Given the description of an element on the screen output the (x, y) to click on. 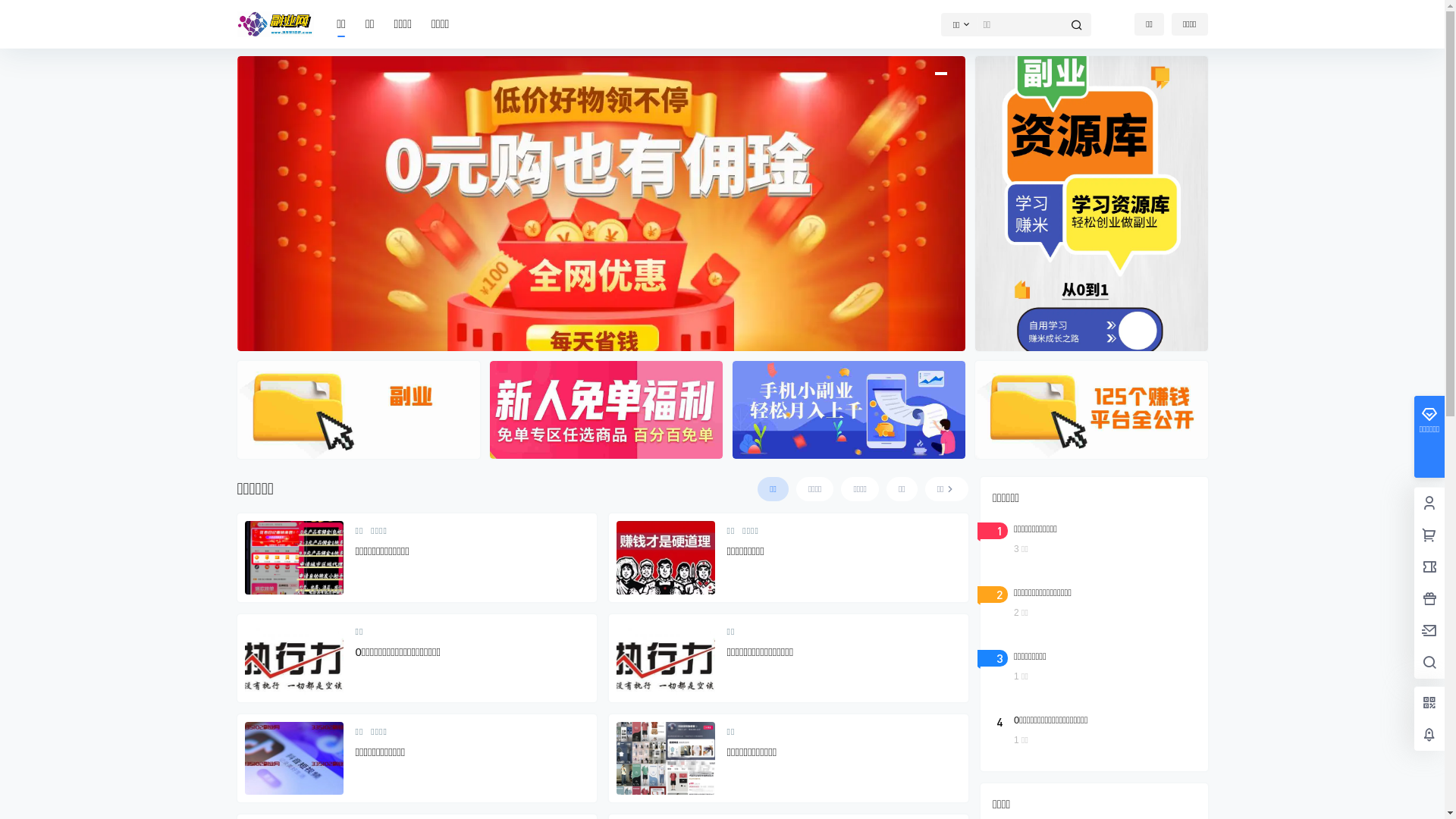
ok Element type: text (10, 10)
